Given the description of an element on the screen output the (x, y) to click on. 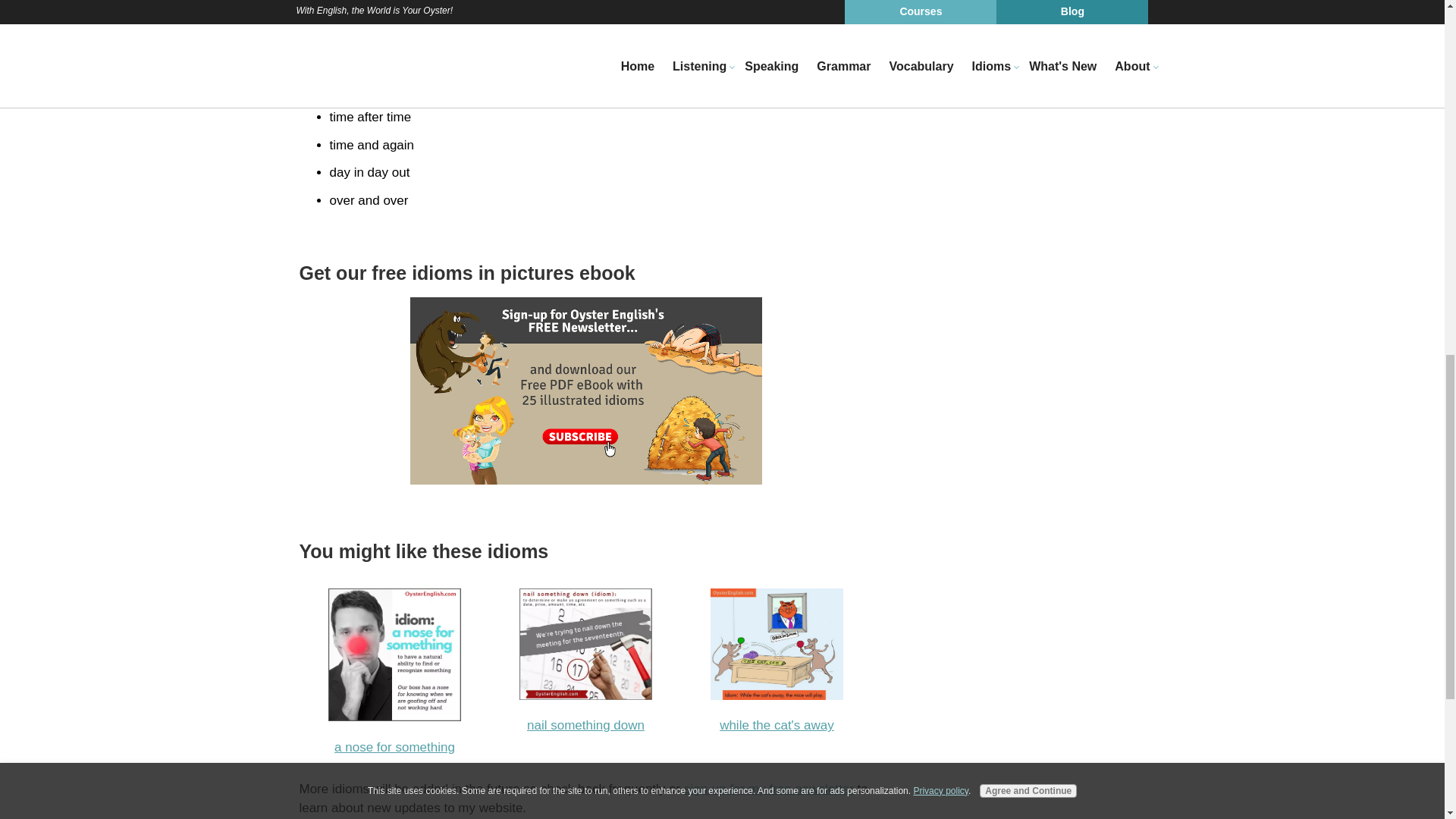
while the cat's away (776, 725)
Go to Signup and receive a free idioms ebook (585, 480)
a nose for something (394, 747)
nail something down (586, 725)
sign-up for my free newsletter (768, 789)
